Given the description of an element on the screen output the (x, y) to click on. 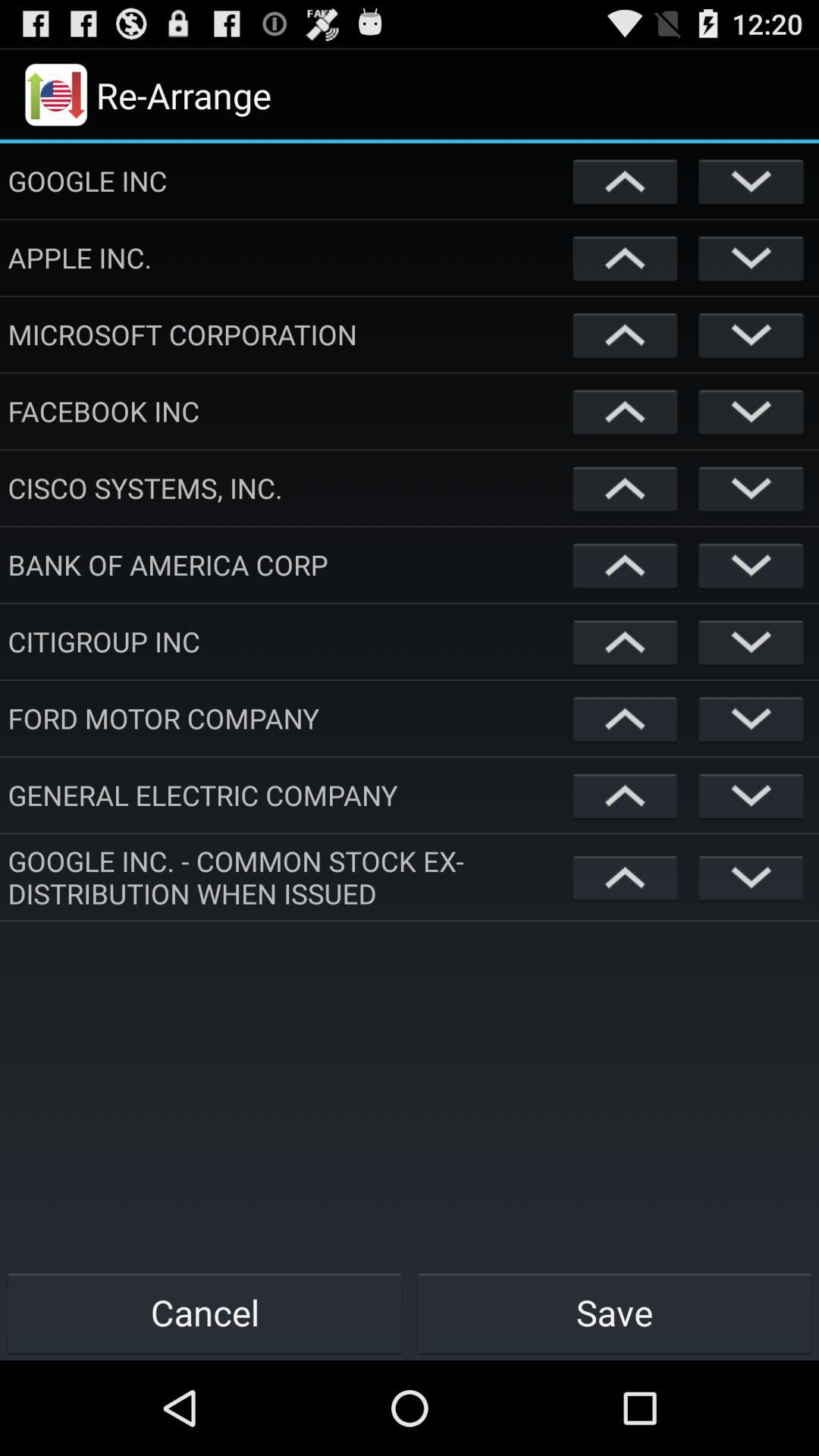
move item up (624, 718)
